Given the description of an element on the screen output the (x, y) to click on. 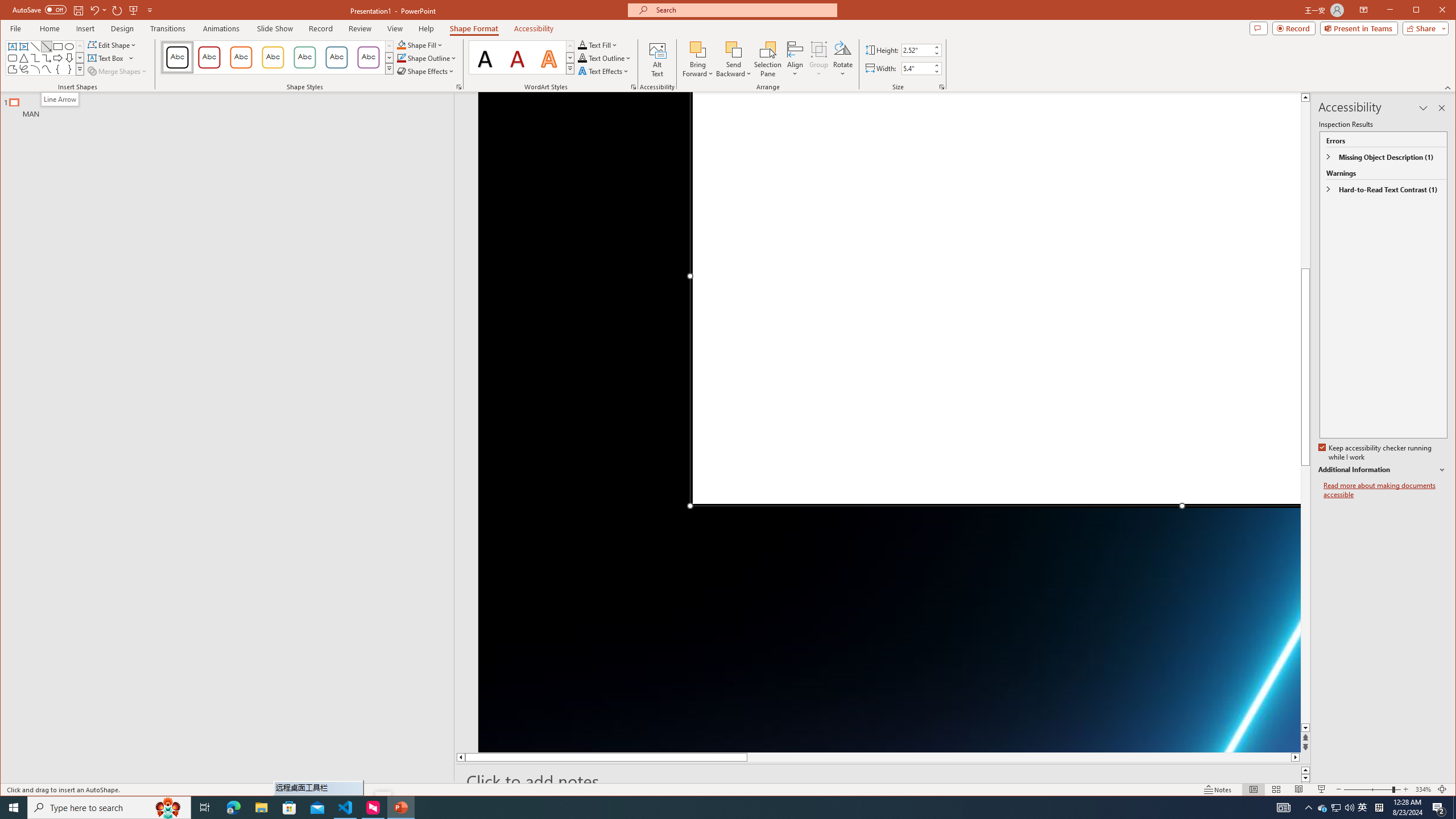
Align (794, 59)
